Given the description of an element on the screen output the (x, y) to click on. 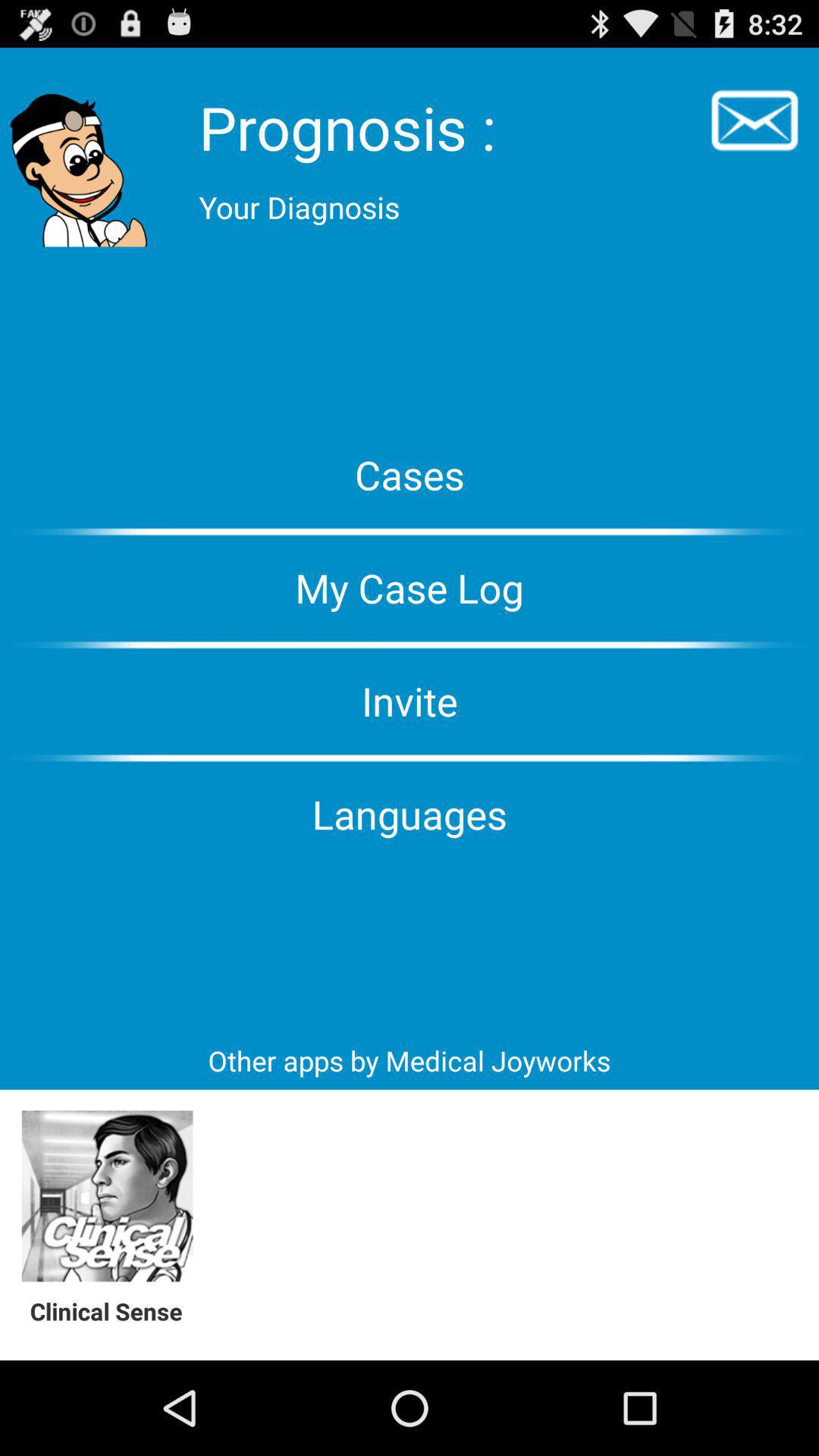
turn off the invite icon (409, 700)
